Given the description of an element on the screen output the (x, y) to click on. 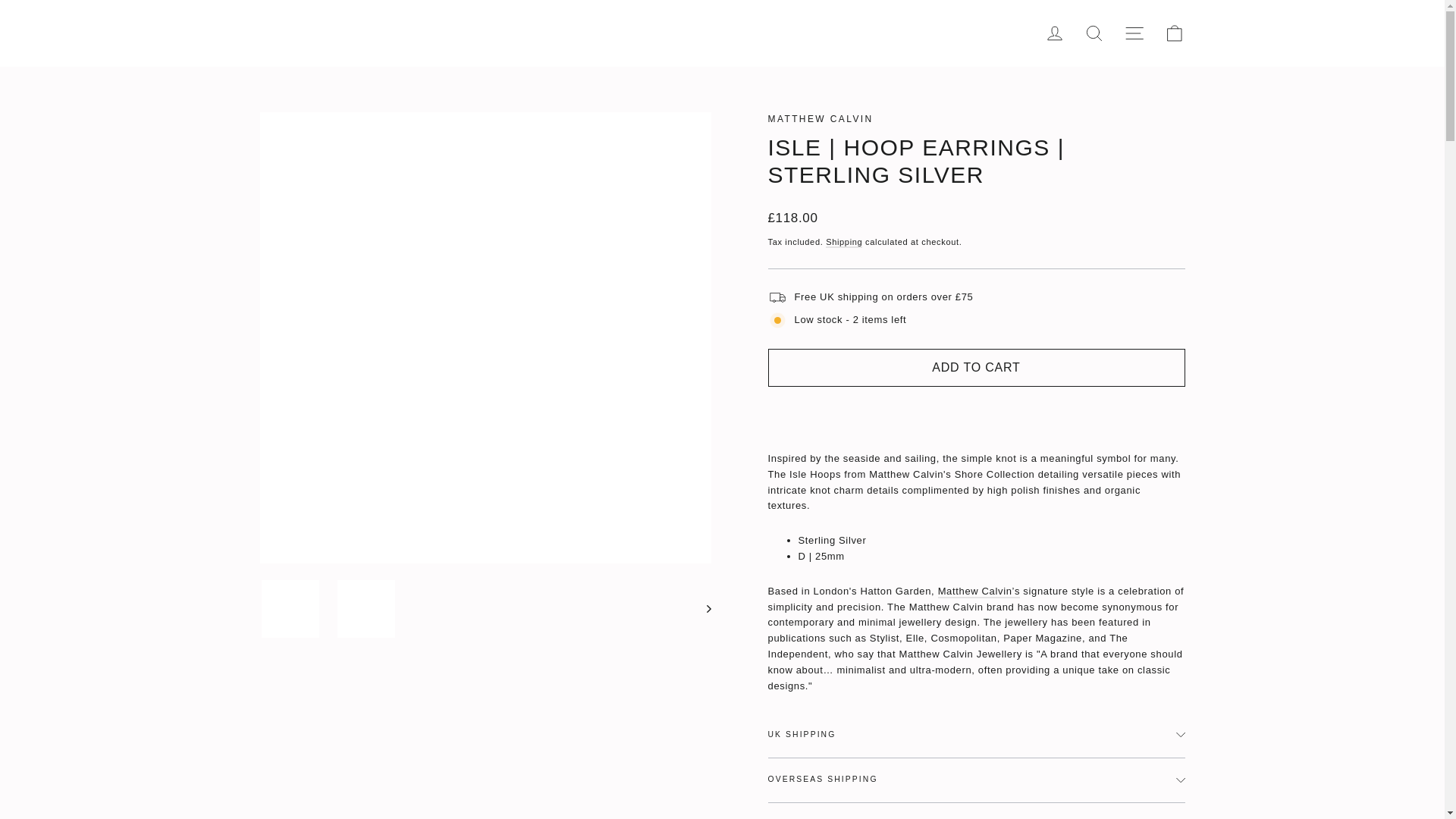
account (1054, 33)
icon-hamburger (1134, 33)
icon-bag-minimal (1174, 33)
icon-search (1094, 33)
Matthew Calvin (819, 118)
